Given the description of an element on the screen output the (x, y) to click on. 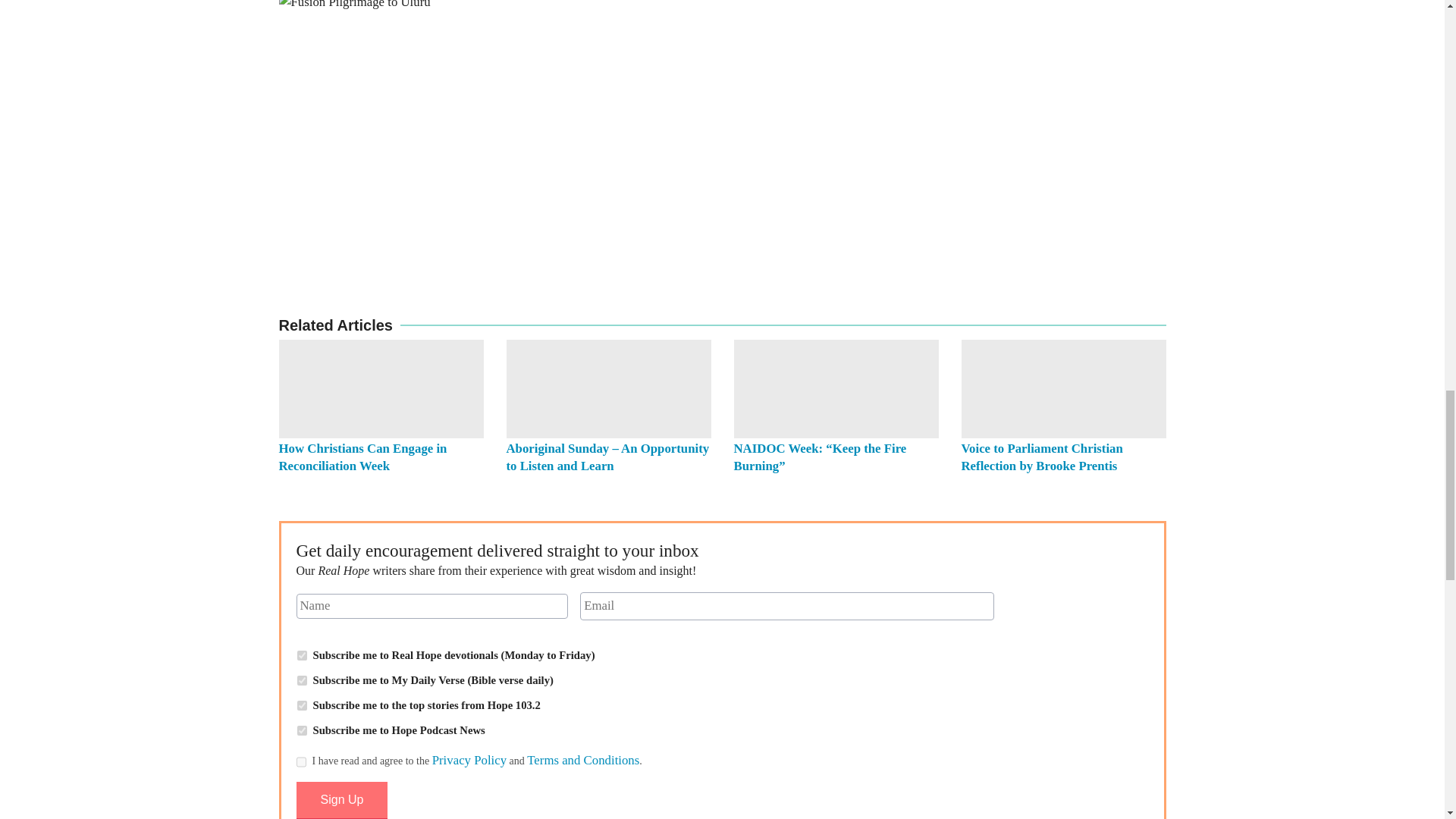
Voice to Parliament Christian Reflection by Brooke Prentis (1041, 457)
How Christians Can Engage in Reconciliation Week (381, 388)
Voice to Parliament Christian Reflection by Brooke Prentis (1063, 388)
How Christians Can Engage in Reconciliation Week (362, 457)
Sign Up (341, 800)
